Given the description of an element on the screen output the (x, y) to click on. 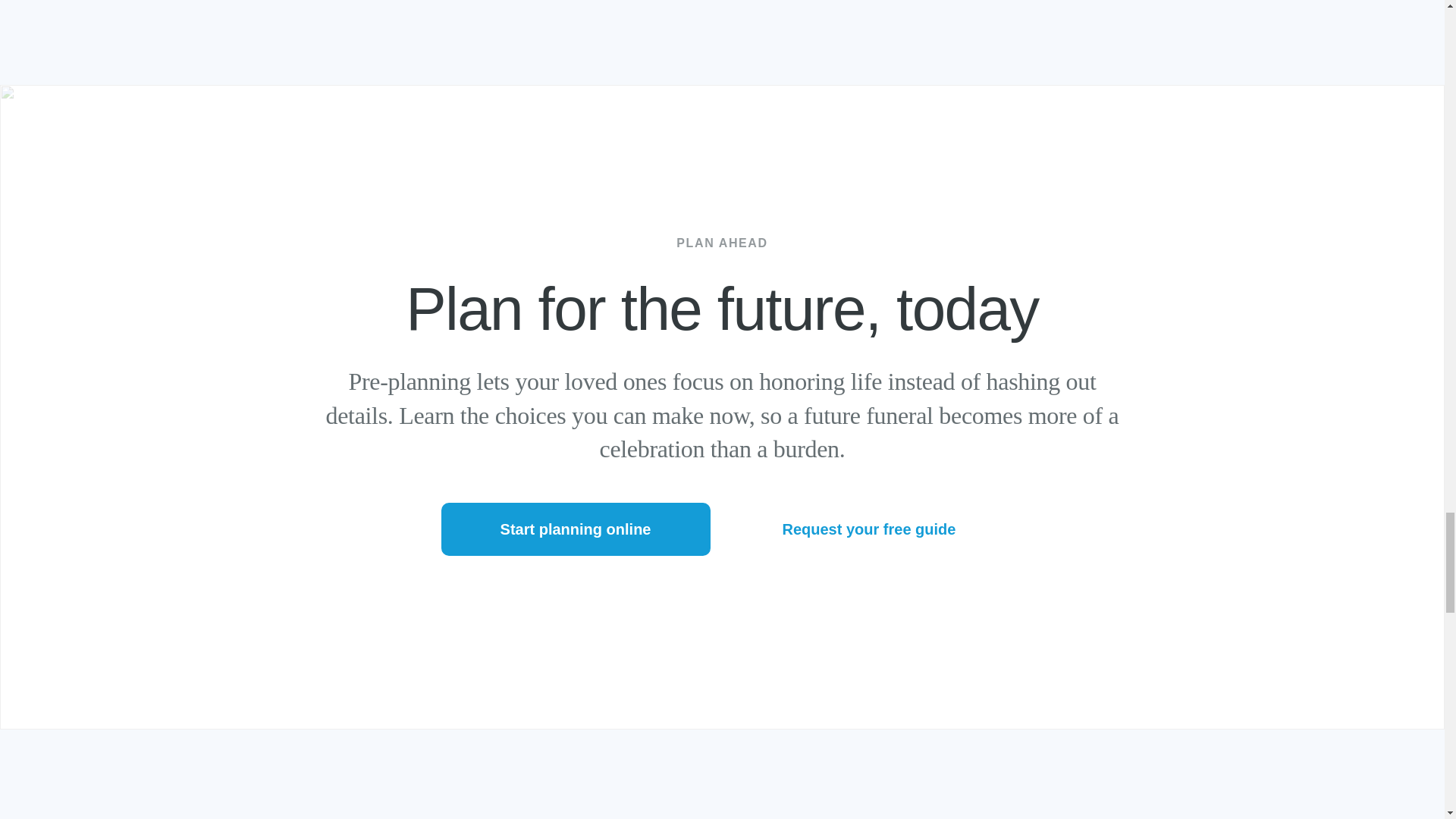
Start planning online (575, 529)
Request your free guide (868, 529)
